Given the description of an element on the screen output the (x, y) to click on. 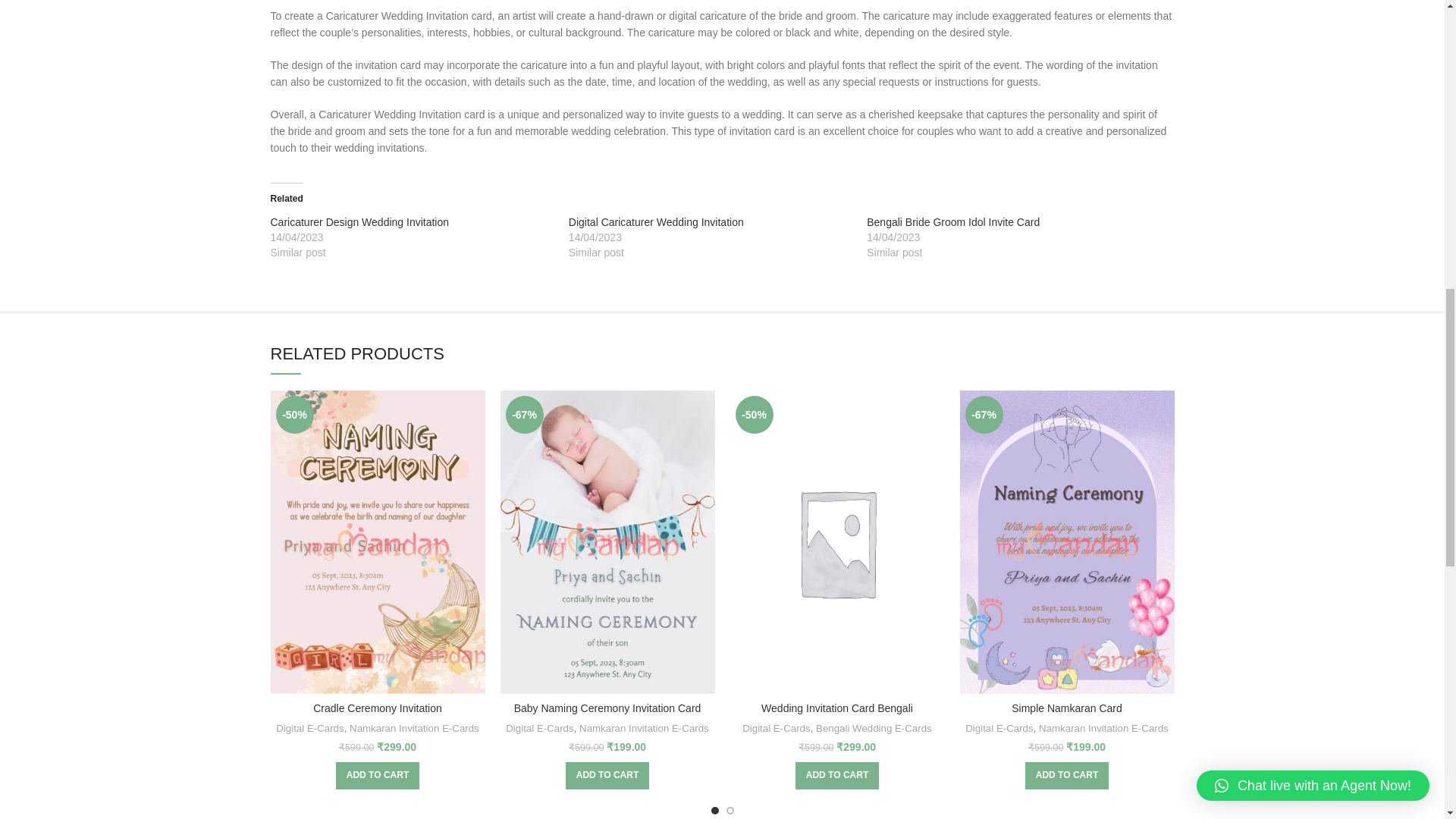
Caricaturer Design Wedding Invitation (358, 222)
Minimum qty is 1 (607, 775)
Minimum qty is 1 (836, 775)
Digital Caricaturer Wedding Invitation (656, 222)
Minimum qty is 1 (1066, 775)
Minimum qty is 1 (377, 775)
Bengali Bride Groom Idol Invite Card (952, 222)
